Given the description of an element on the screen output the (x, y) to click on. 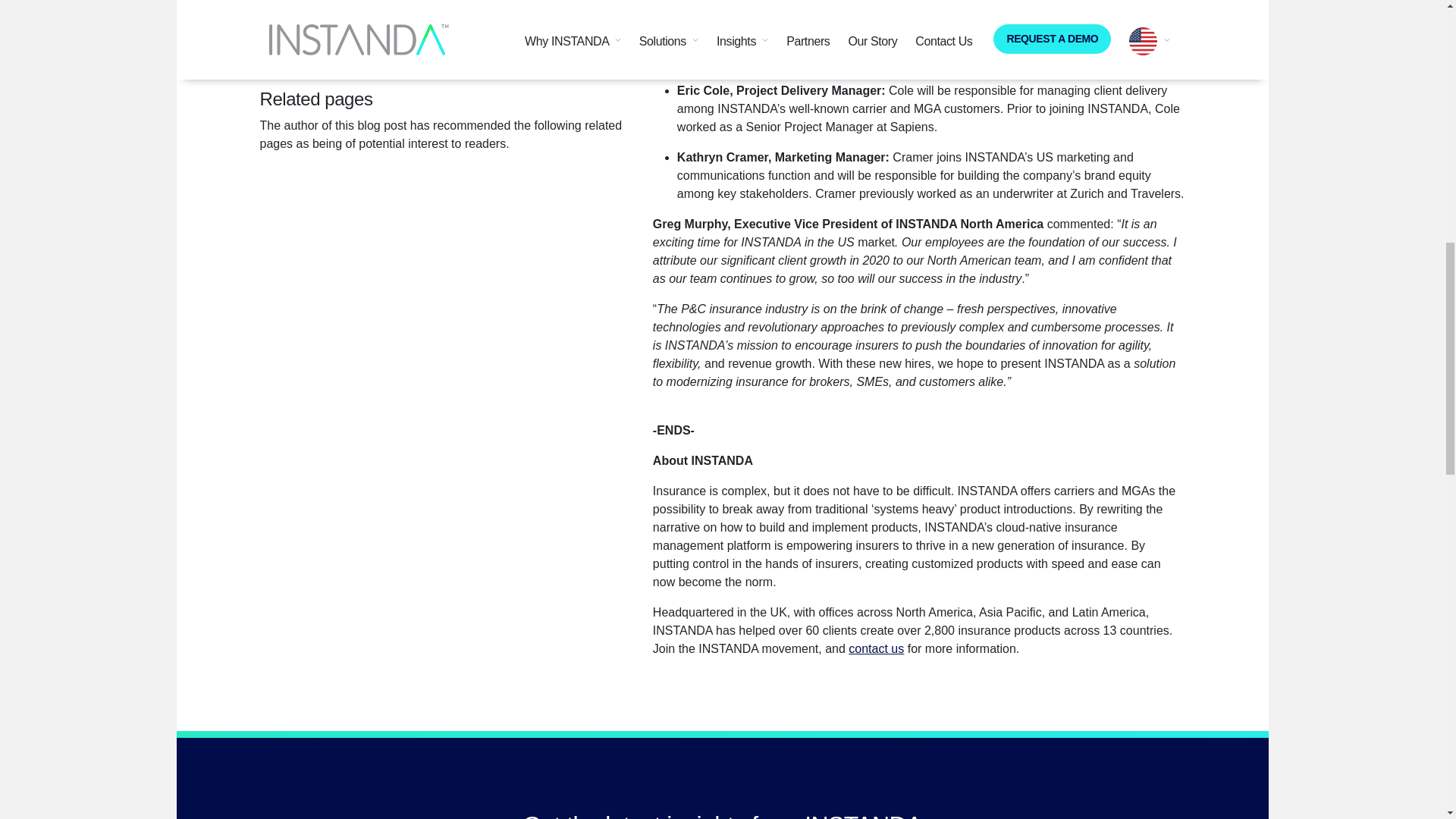
Facebook (462, 53)
contact us (876, 648)
Twitter (474, 53)
